Given the description of an element on the screen output the (x, y) to click on. 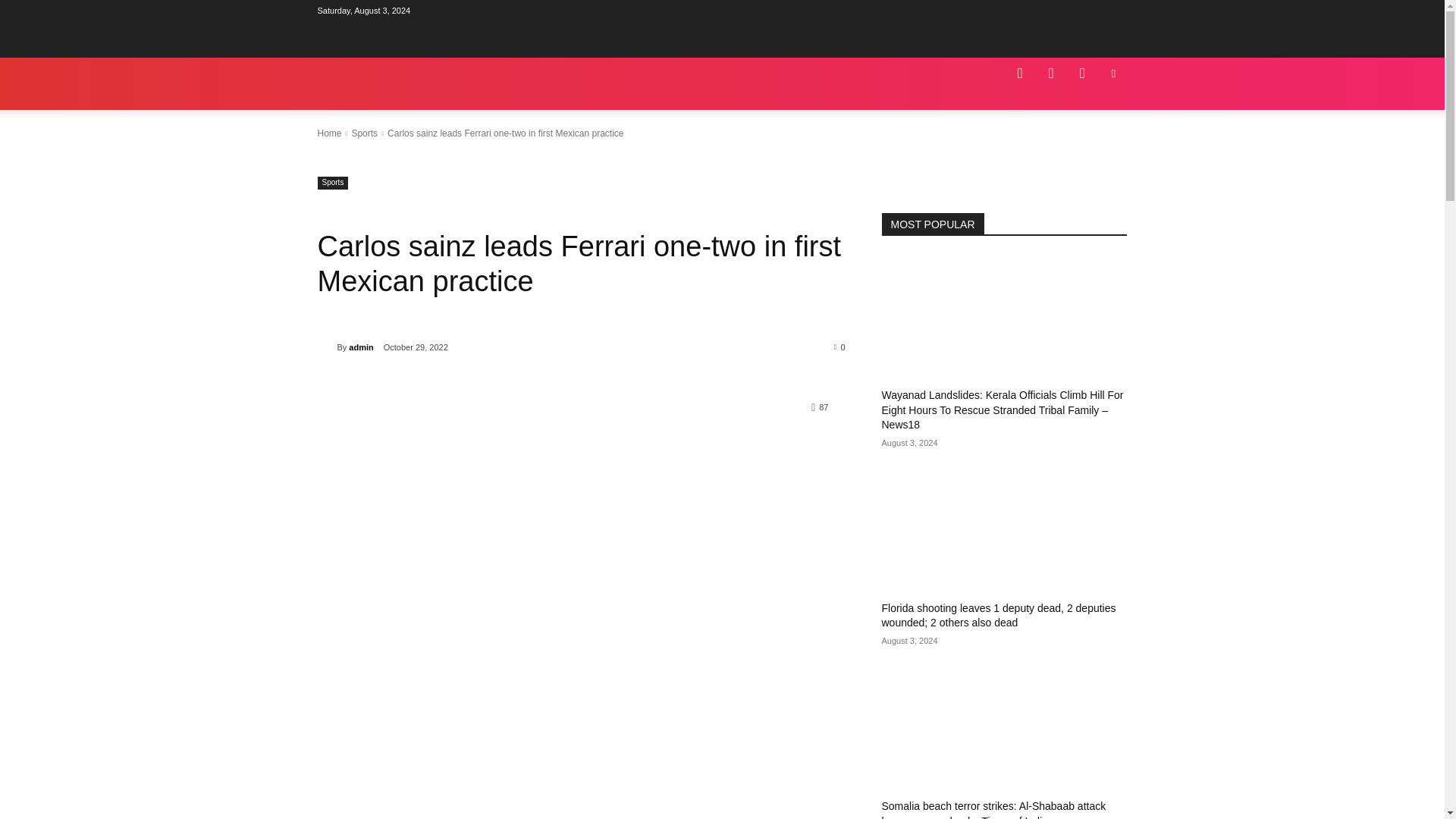
Facebook (1019, 72)
View all posts in Sports (363, 132)
Sports (332, 182)
0 (839, 346)
admin (360, 346)
Twitter (1112, 72)
admin (326, 346)
Sports (363, 132)
Instagram (1050, 72)
Youtube (1082, 72)
Home (328, 132)
